Given the description of an element on the screen output the (x, y) to click on. 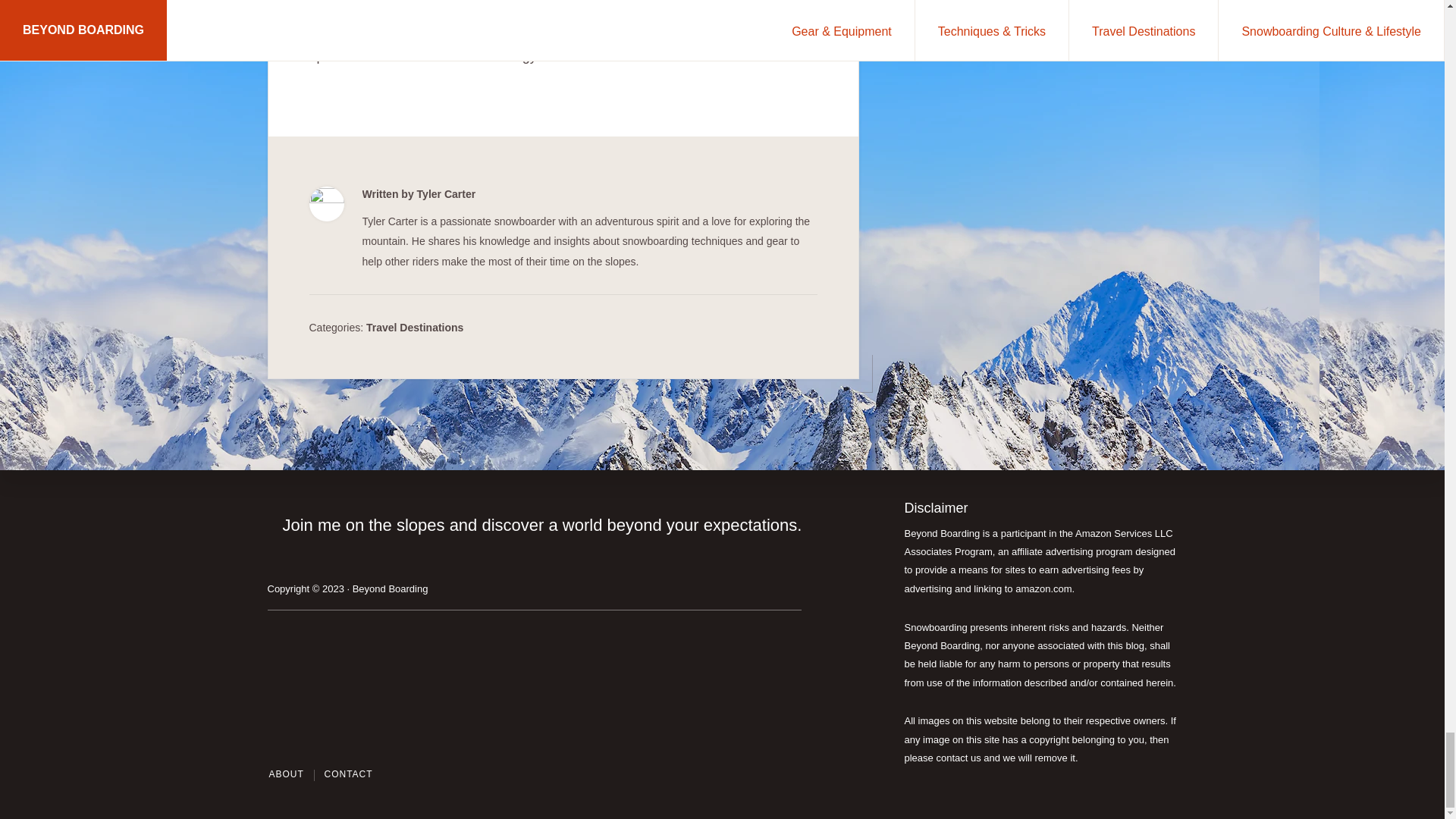
Travel Destinations (414, 327)
